Given the description of an element on the screen output the (x, y) to click on. 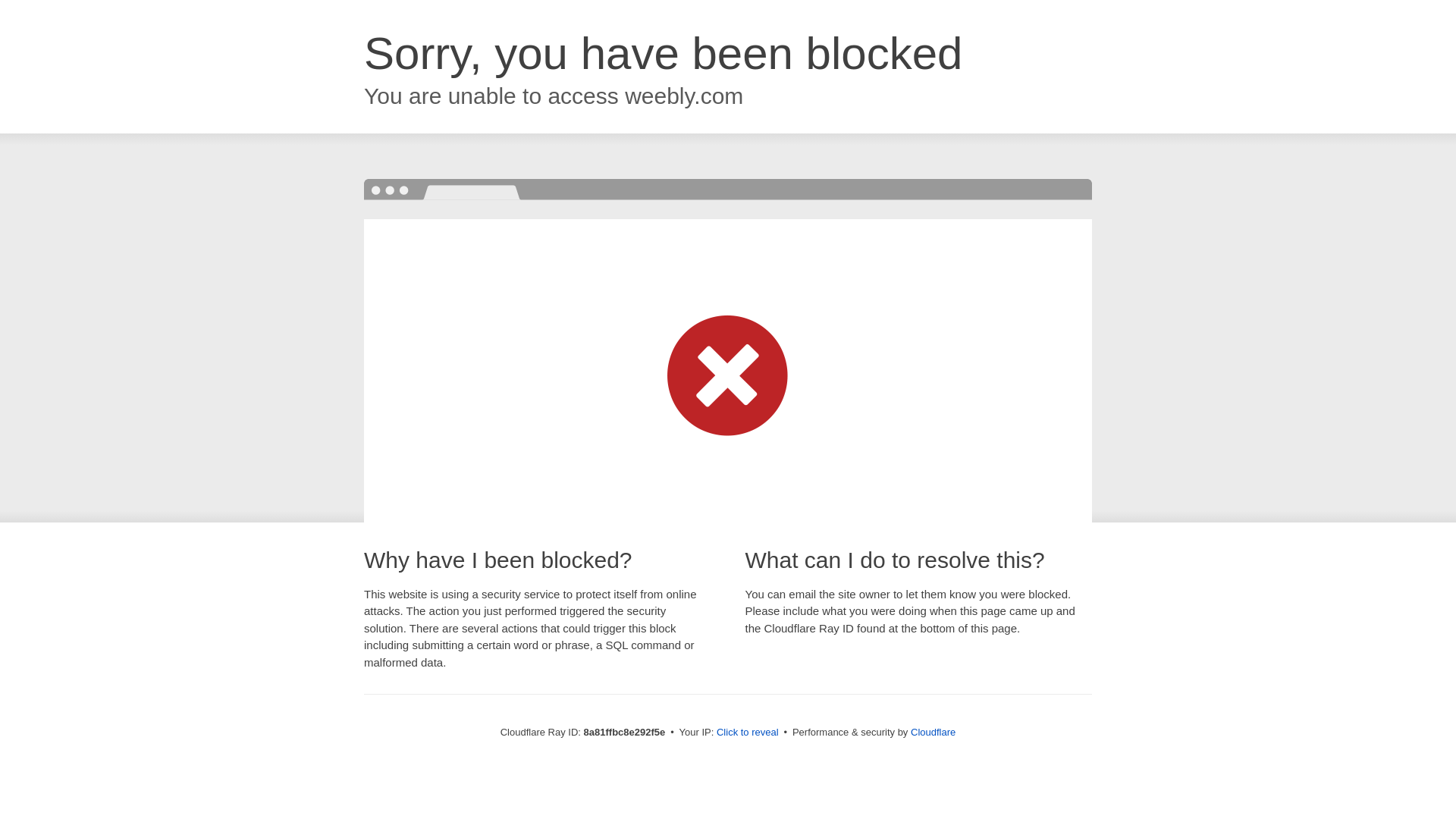
Click to reveal (747, 732)
Cloudflare (933, 731)
